Given the description of an element on the screen output the (x, y) to click on. 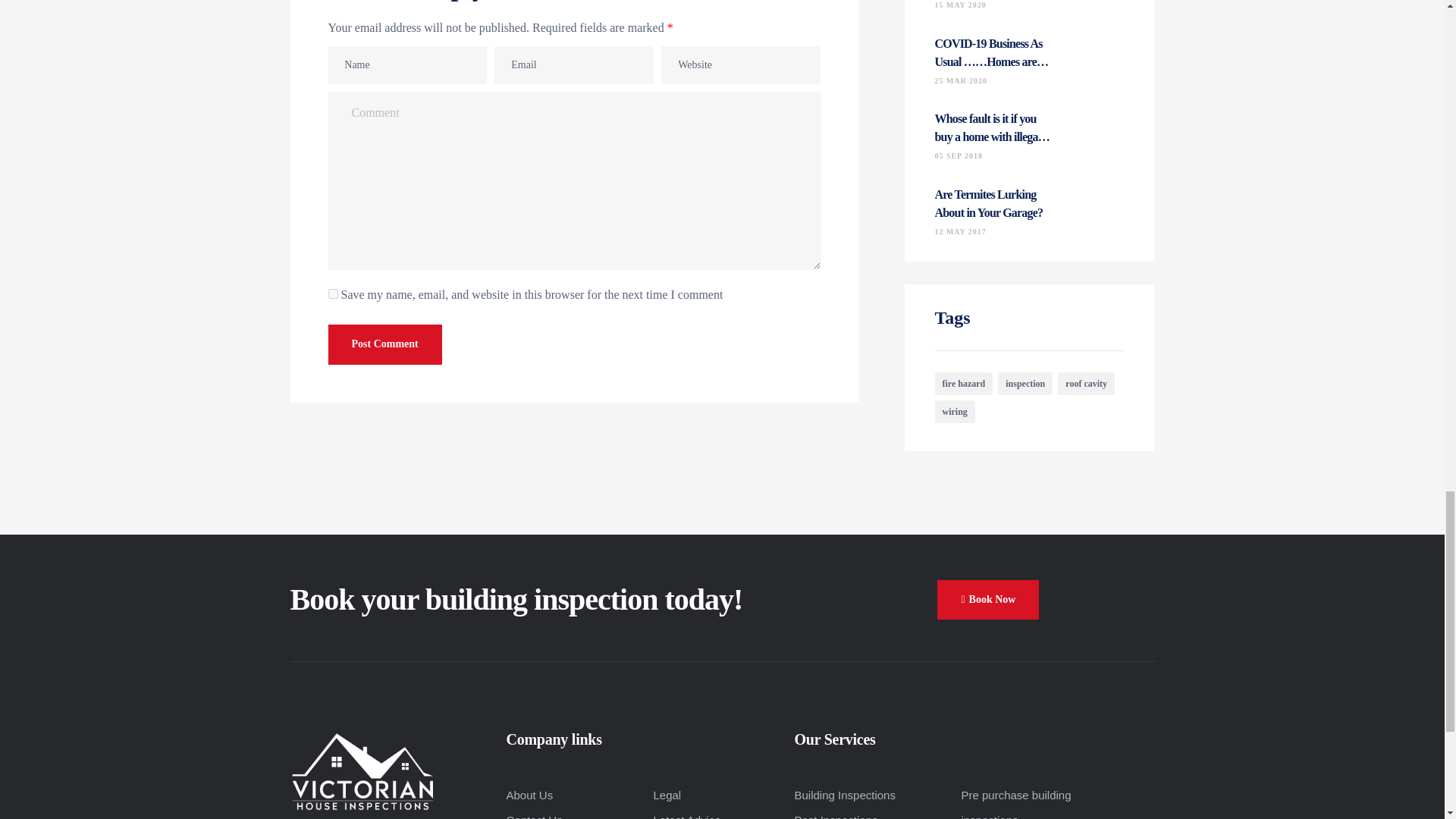
Post Comment (384, 343)
yes (332, 293)
